Given the description of an element on the screen output the (x, y) to click on. 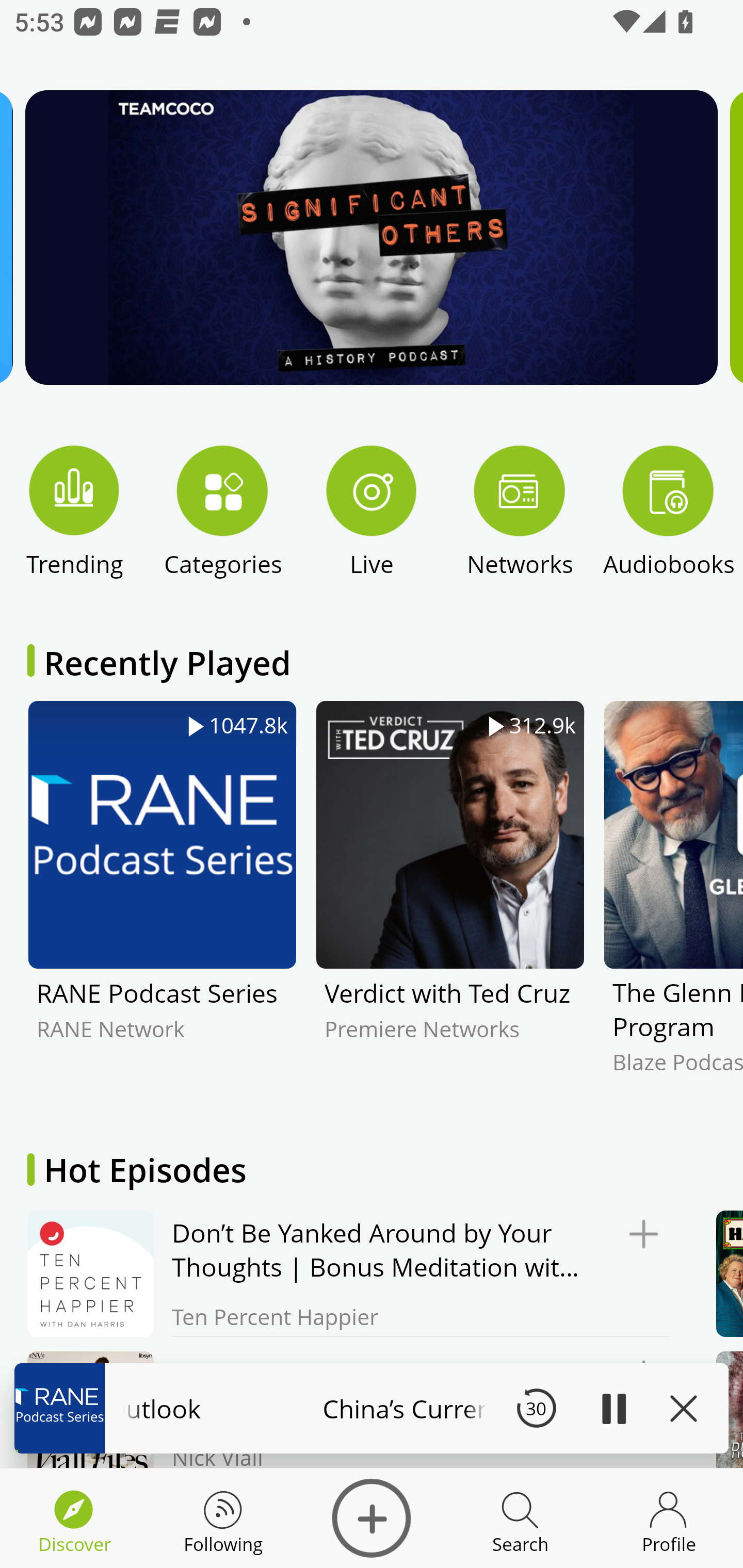
1047.8k RANE Podcast Series RANE Network (162, 902)
312.9k Verdict with Ted Cruz Premiere Networks (450, 902)
The Glenn Beck Program Blaze Podcast Network (673, 902)
Play (613, 1407)
30 Seek Backward (536, 1407)
Discover Following (222, 1518)
Discover (371, 1518)
Discover Search (519, 1518)
Discover Profile (668, 1518)
